Given the description of an element on the screen output the (x, y) to click on. 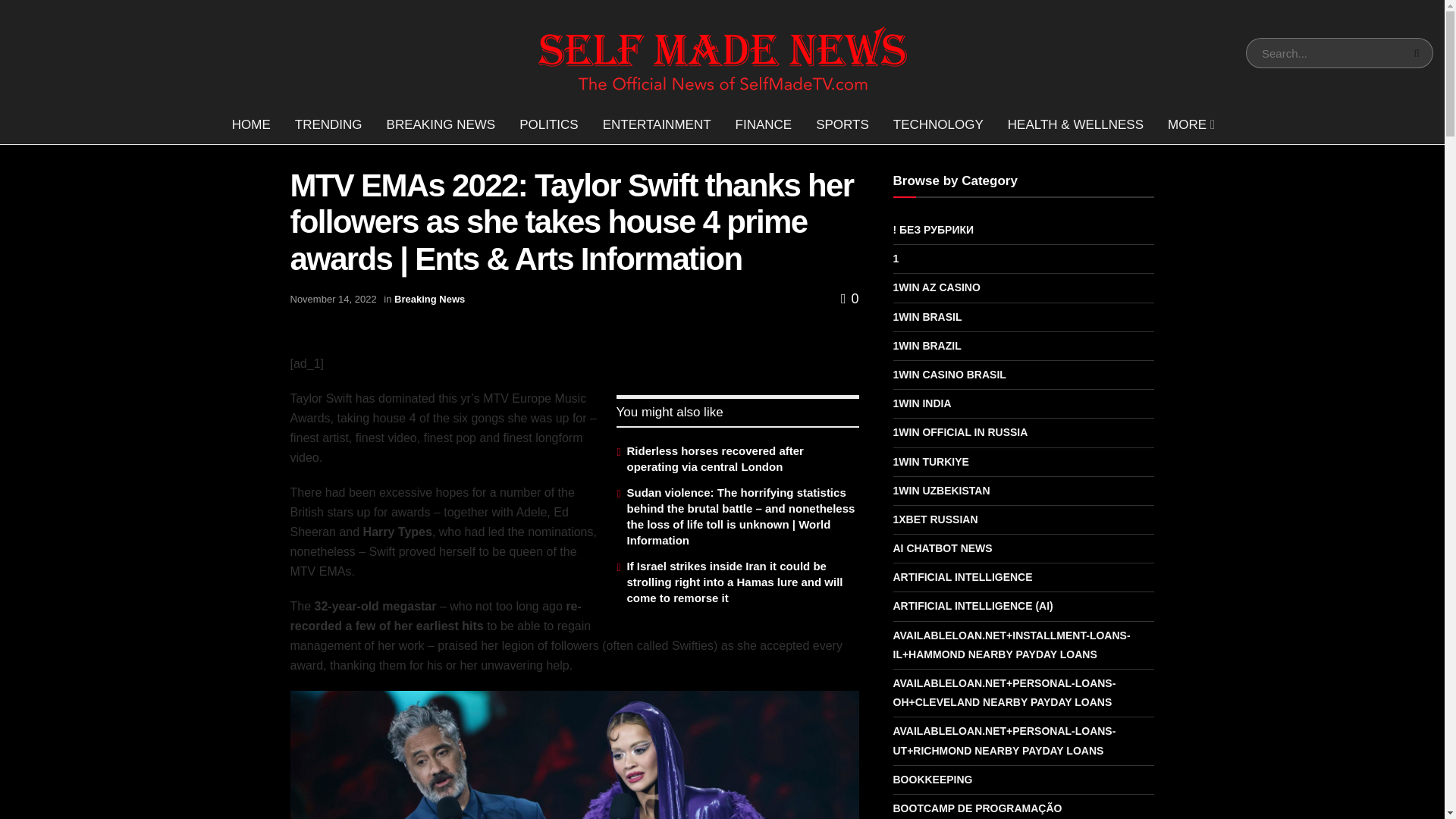
TECHNOLOGY (937, 125)
HOME (250, 125)
MORE (1190, 125)
POLITICS (547, 125)
FINANCE (764, 125)
ENTERTAINMENT (657, 125)
TRENDING (328, 125)
BREAKING NEWS (441, 125)
SPORTS (841, 125)
